Given the description of an element on the screen output the (x, y) to click on. 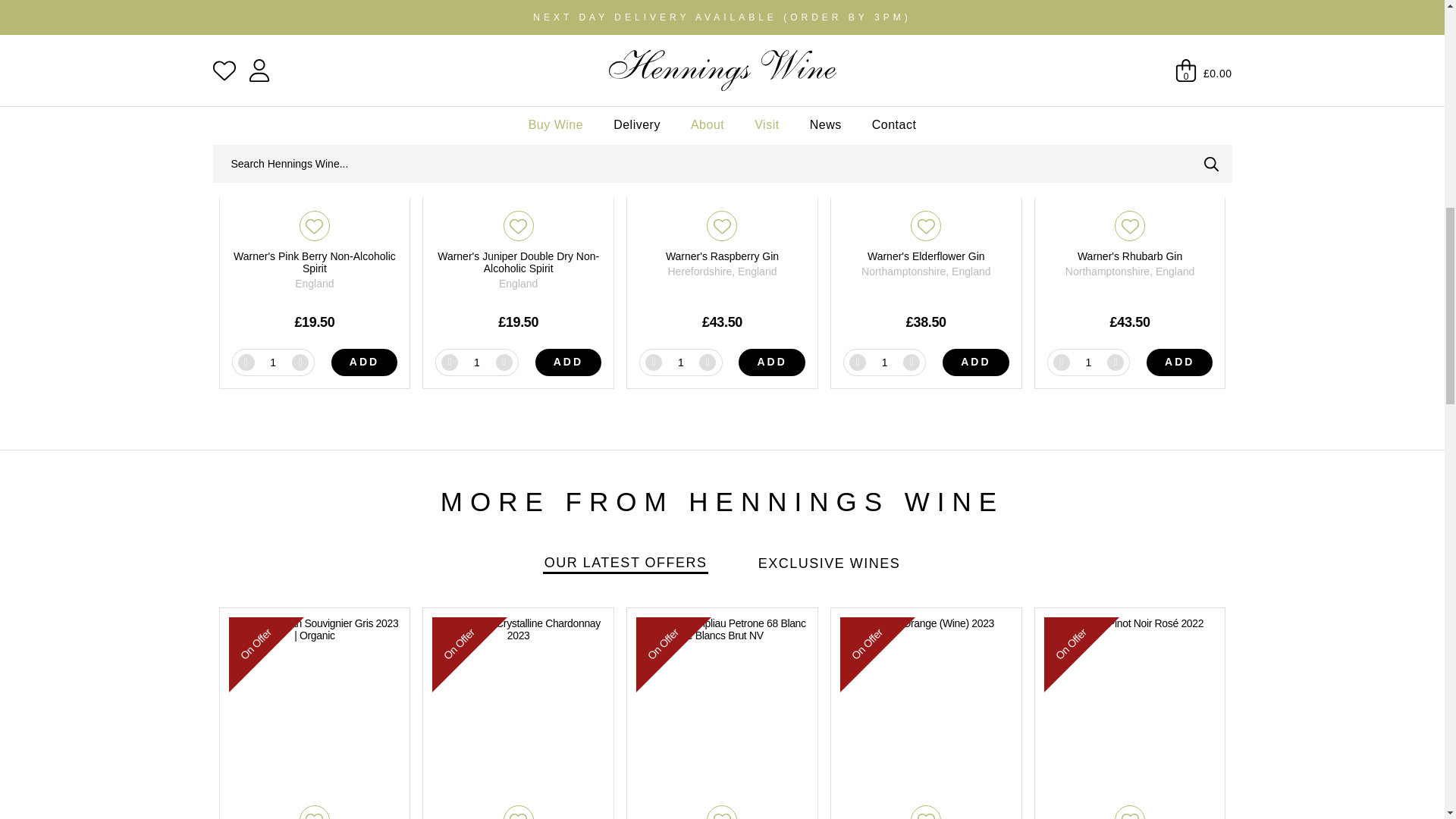
View Henri Champliau Petrone 68 Blanc de Blancs Brut NV (722, 713)
Add To Basket (1179, 361)
1 (272, 362)
1 (680, 362)
1 (1088, 362)
Add To Basket (568, 361)
Add To Basket (771, 361)
View False Bay Crystalline Chardonnay 2023 (518, 713)
1 (476, 362)
Add To Basket (975, 361)
